Given the description of an element on the screen output the (x, y) to click on. 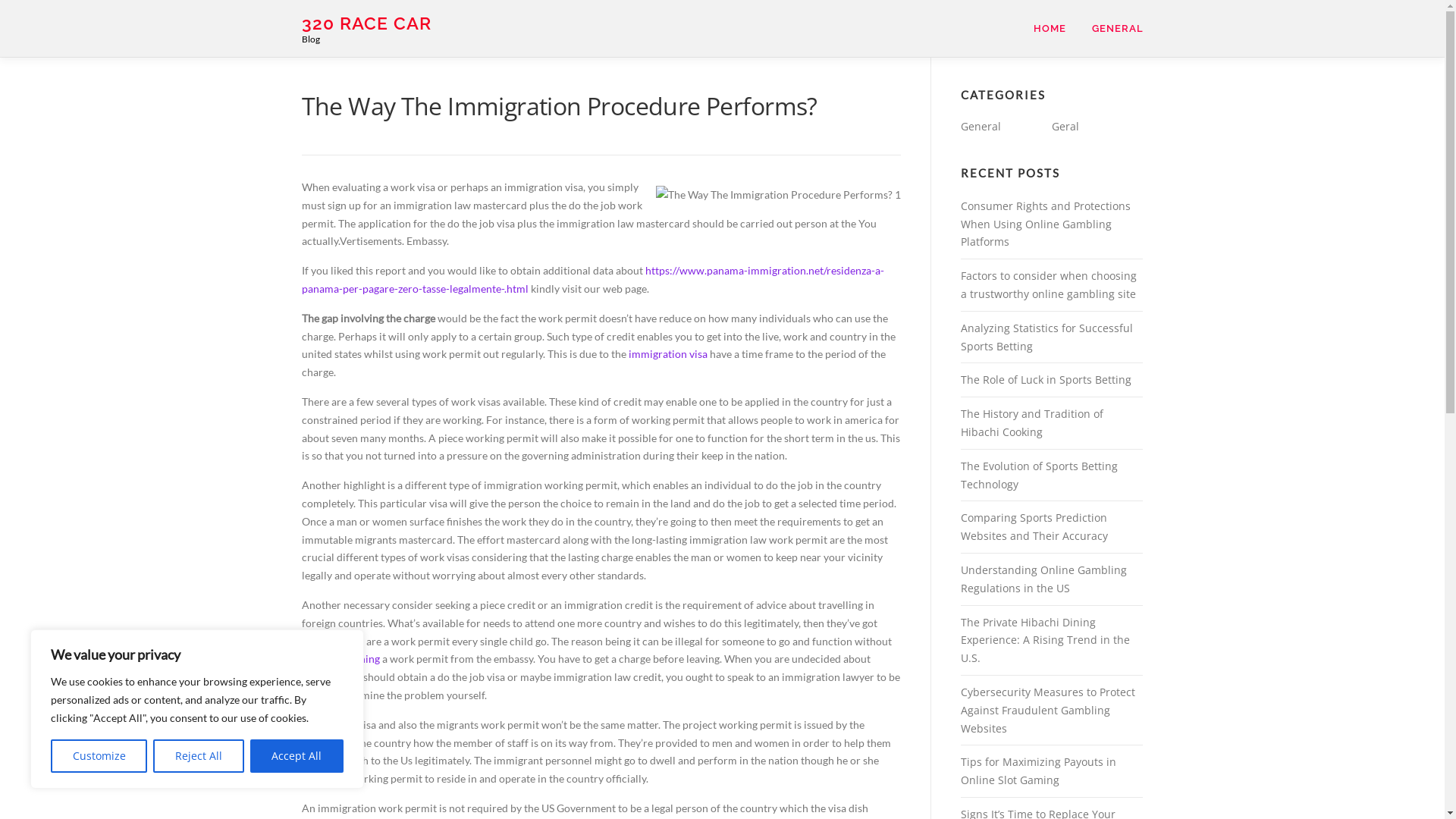
The Role of Luck in Sports Betting Element type: text (1045, 379)
GENERAL Element type: text (1110, 28)
The Evolution of Sports Betting Technology Element type: text (1038, 474)
Reject All Element type: text (198, 755)
Analyzing Statistics for Successful Sports Betting Element type: text (1046, 336)
Customize Element type: text (98, 755)
Accept All Element type: text (296, 755)
HOME Element type: text (1049, 28)
Geral Element type: text (1064, 126)
Comparing Sports Prediction Websites and Their Accuracy Element type: text (1033, 526)
obtaining Element type: text (357, 658)
General Element type: text (980, 126)
immigration visa Element type: text (666, 353)
Understanding Online Gambling Regulations in the US Element type: text (1043, 578)
The History and Tradition of Hibachi Cooking Element type: text (1031, 422)
Tips for Maximizing Payouts in Online Slot Gaming Element type: text (1037, 770)
320 RACE CAR Element type: text (366, 22)
